Given the description of an element on the screen output the (x, y) to click on. 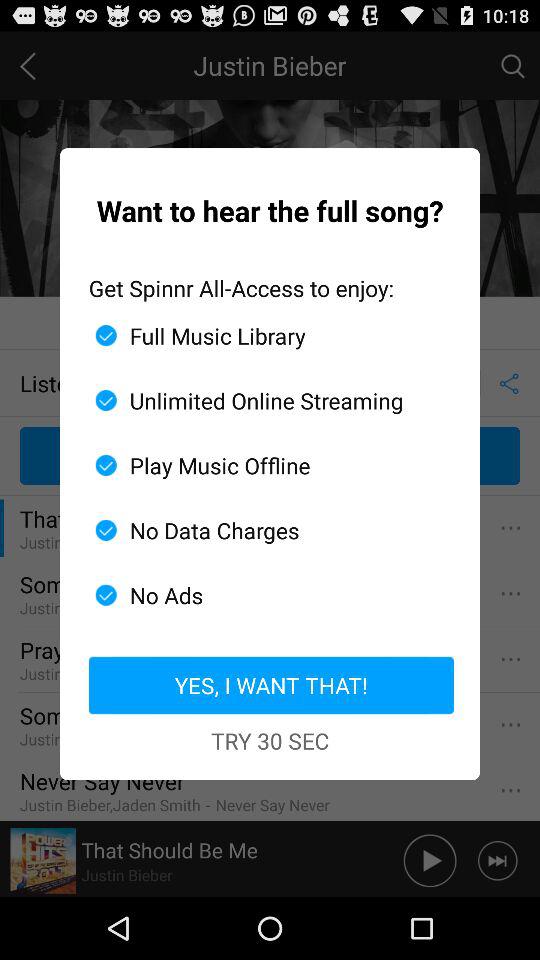
open icon above the no ads item (261, 530)
